Given the description of an element on the screen output the (x, y) to click on. 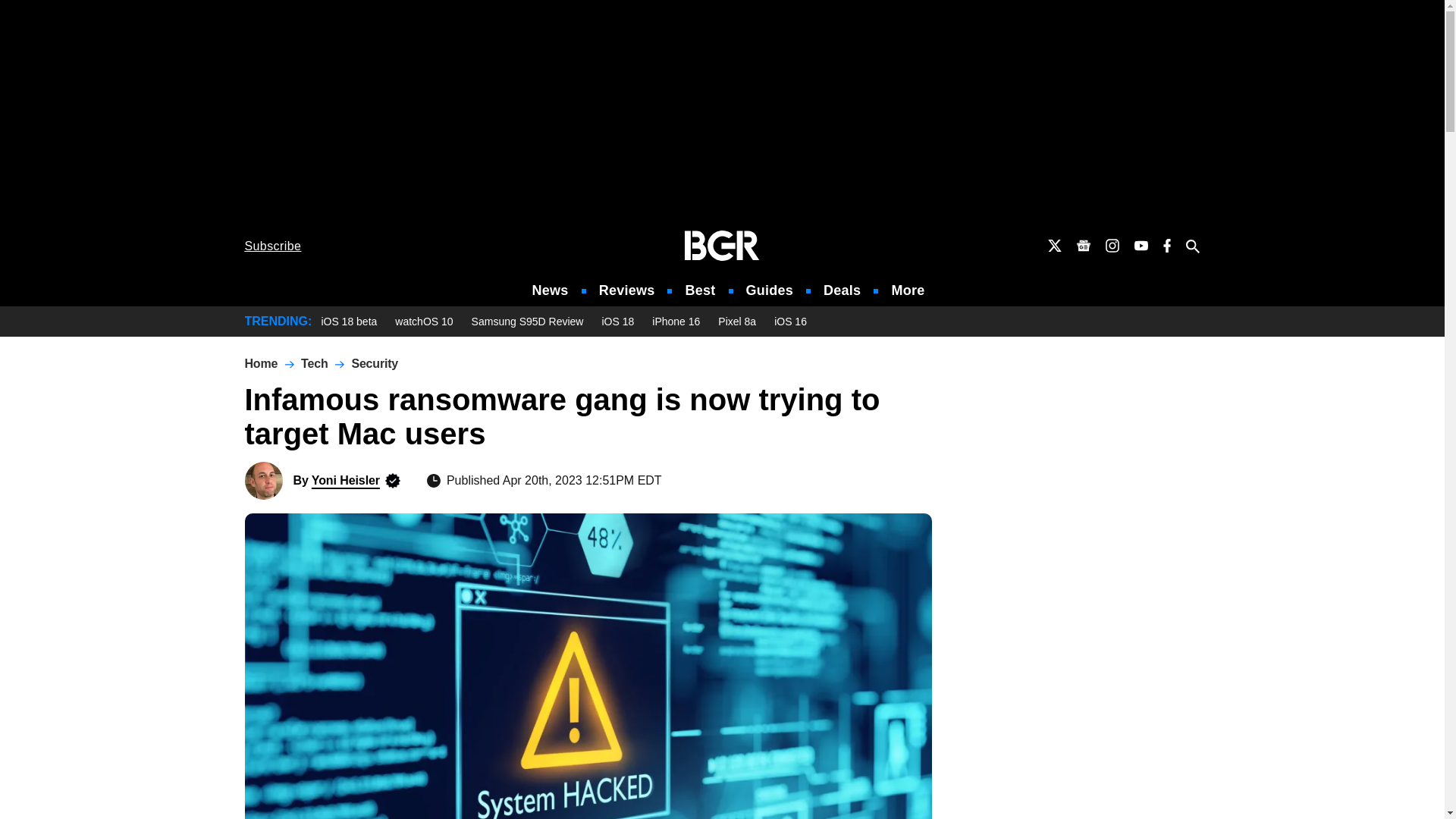
Best (699, 290)
Guides (769, 290)
Deals (842, 290)
More (907, 290)
Reviews (626, 290)
Posts by Yoni Heisler (345, 480)
Subscribe (272, 245)
News (550, 290)
